Given the description of an element on the screen output the (x, y) to click on. 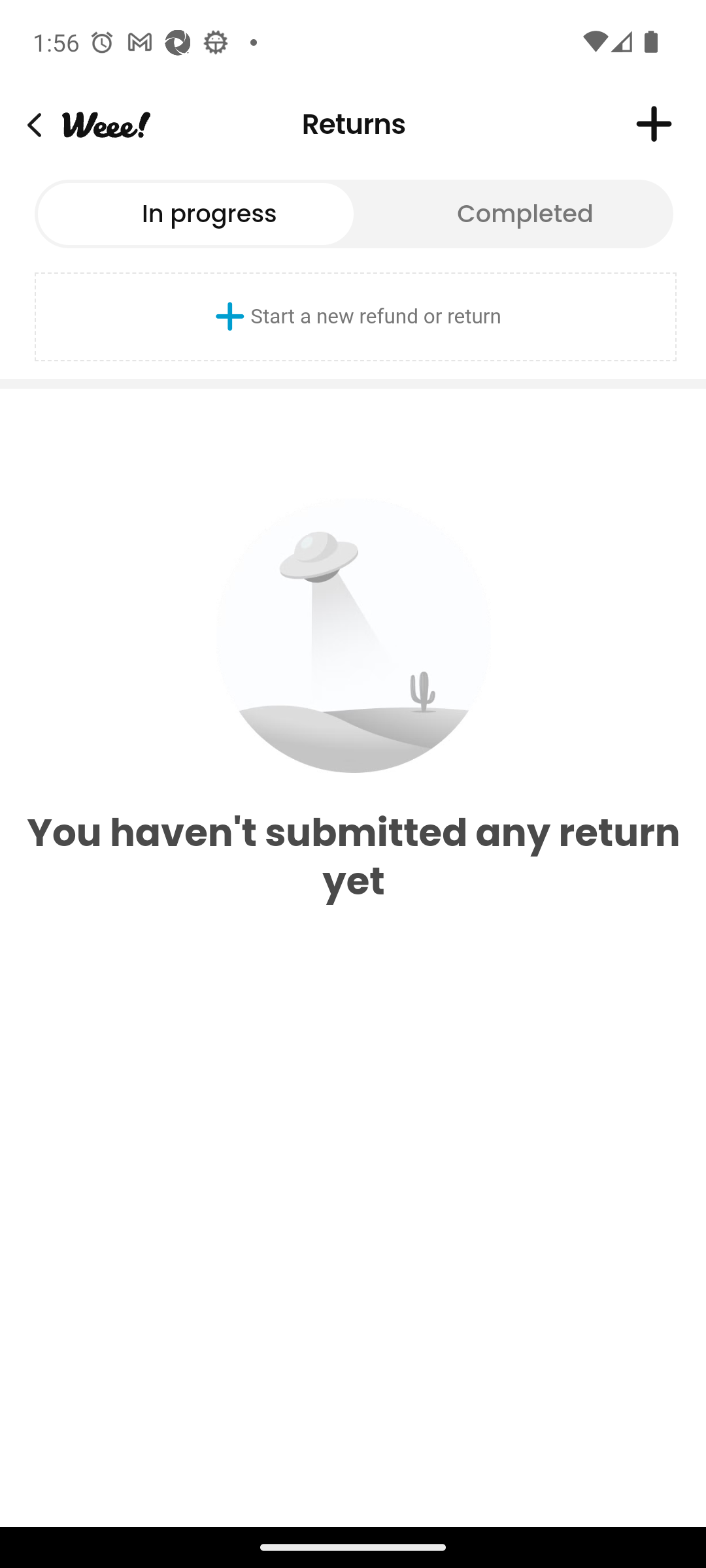
Weee! - Groceries Delivered (33, 124)
 (654, 124)
Weee! - Groceries Delivered (105, 124)
In progress (195, 213)
Completed (511, 213)
